Given the description of an element on the screen output the (x, y) to click on. 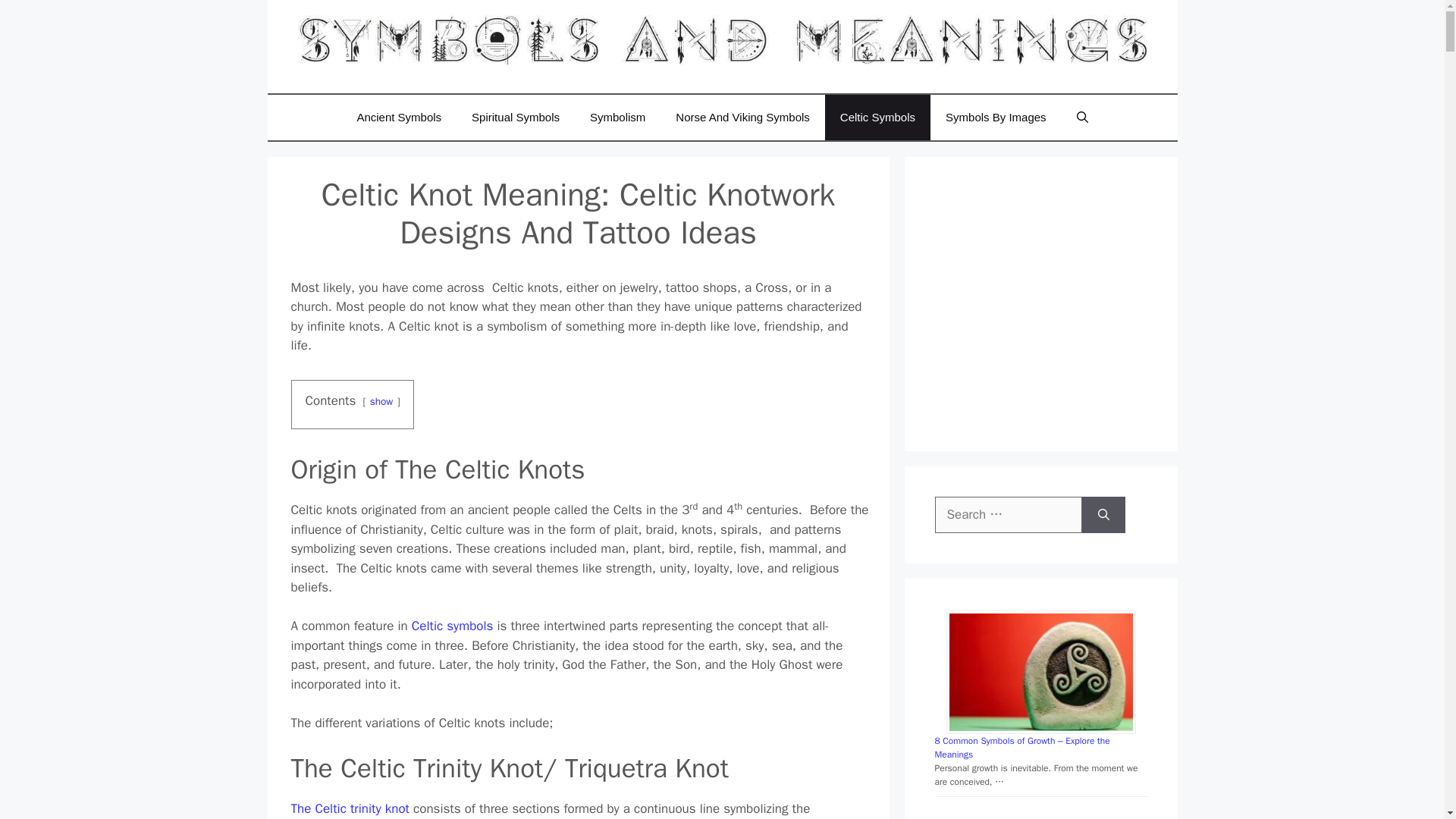
Celtic symbols (452, 625)
The Celtic trinity knot (350, 808)
Symbols By Images (995, 117)
Spiritual Symbols (516, 117)
Symbolism (618, 117)
show (381, 400)
Ancient Symbols (398, 117)
The Celtic trinity knot (350, 808)
Norse And Viking Symbols (742, 117)
Search for: (1007, 514)
